Given the description of an element on the screen output the (x, y) to click on. 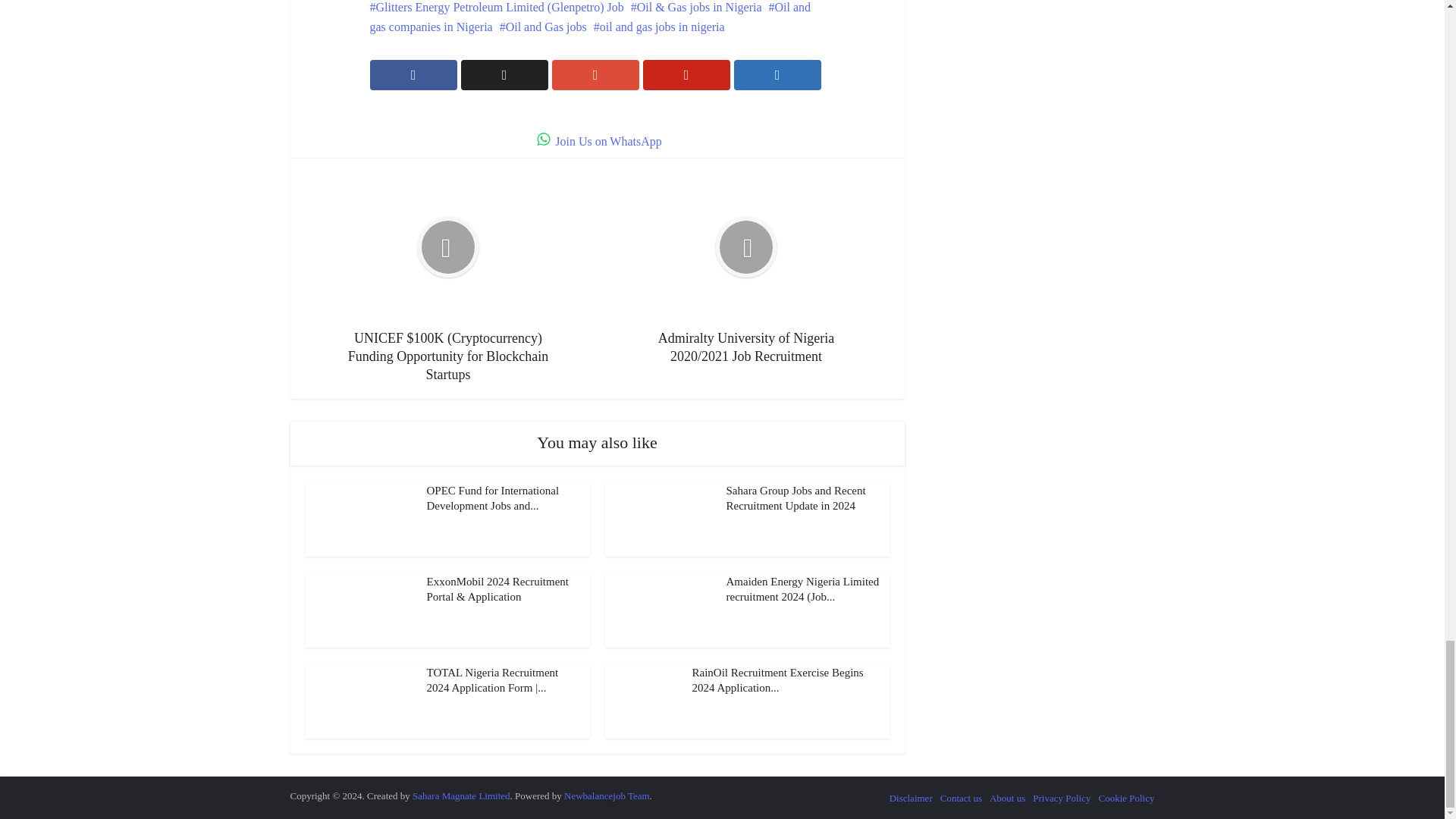
oil and gas jobs in nigeria (659, 26)
Oil and gas companies in Nigeria (589, 16)
Join Us on WhatsApp (597, 141)
Sahara Group Jobs and Recent Recruitment Update in 2024 (796, 497)
Join Us on WhatsApp (597, 141)
Oil and Gas jobs (542, 26)
